Given the description of an element on the screen output the (x, y) to click on. 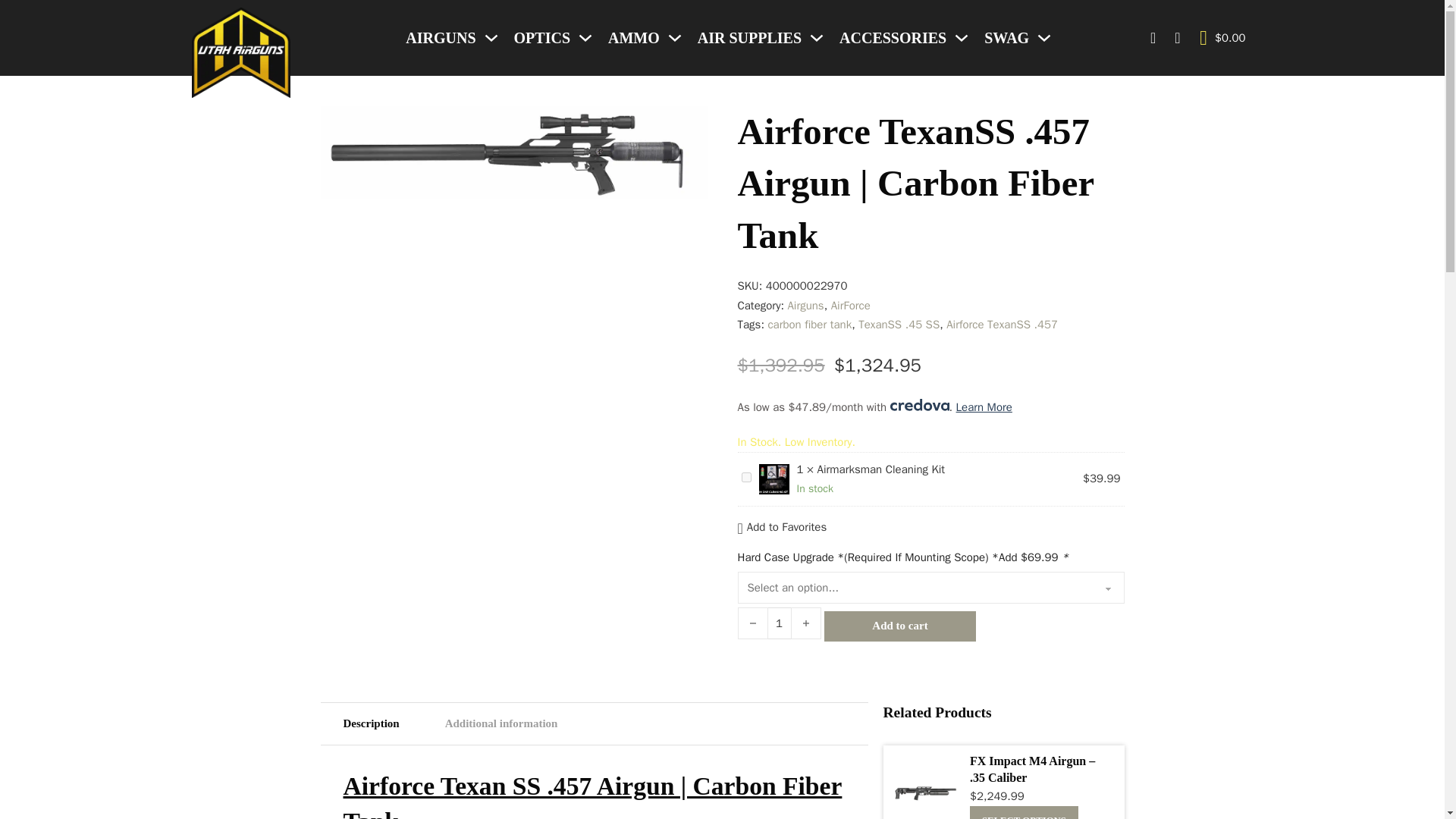
1 (778, 623)
images (513, 152)
Required field (1064, 557)
300883 (746, 477)
